Given the description of an element on the screen output the (x, y) to click on. 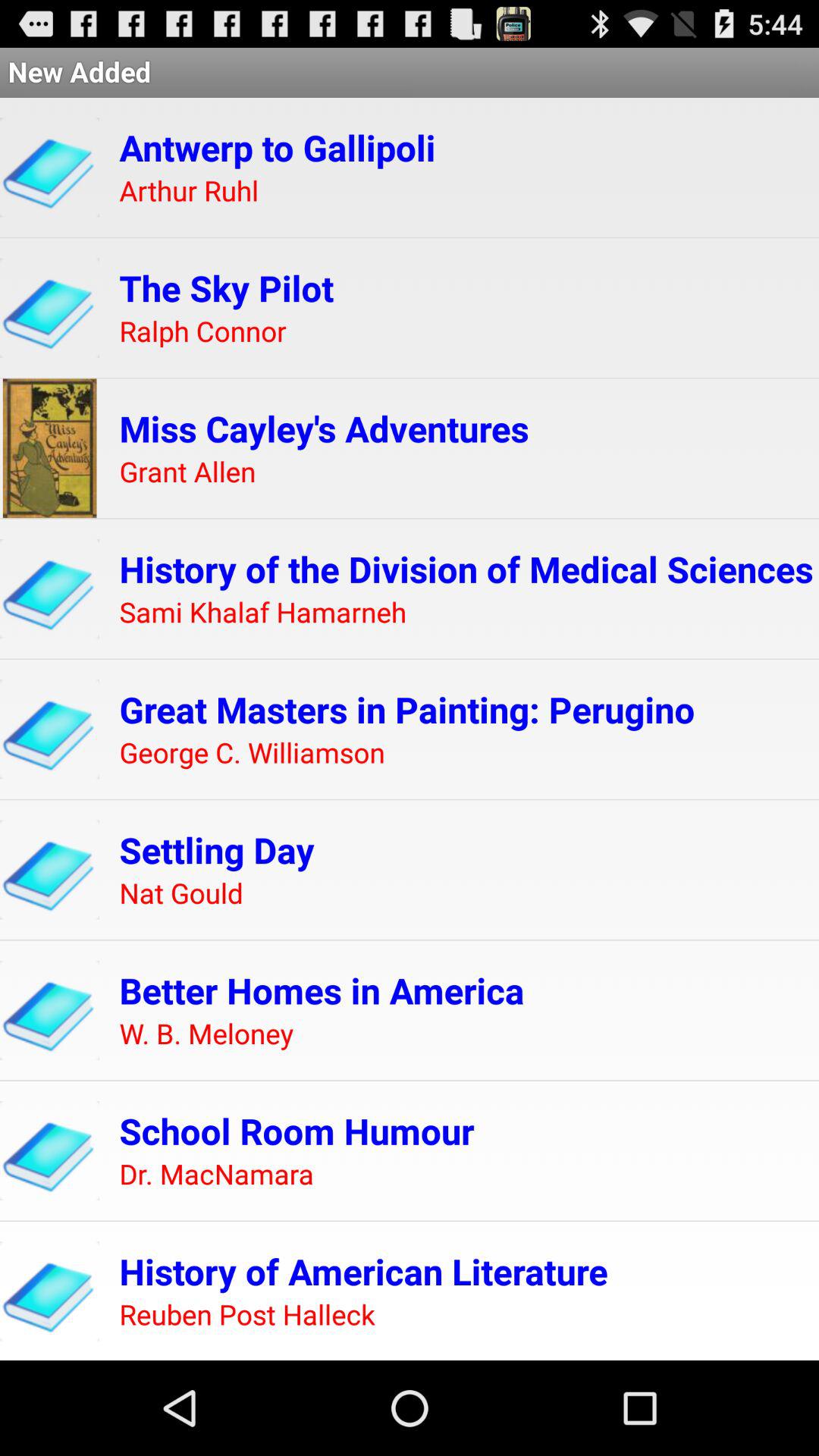
jump until sami khalaf hamarneh item (262, 613)
